Given the description of an element on the screen output the (x, y) to click on. 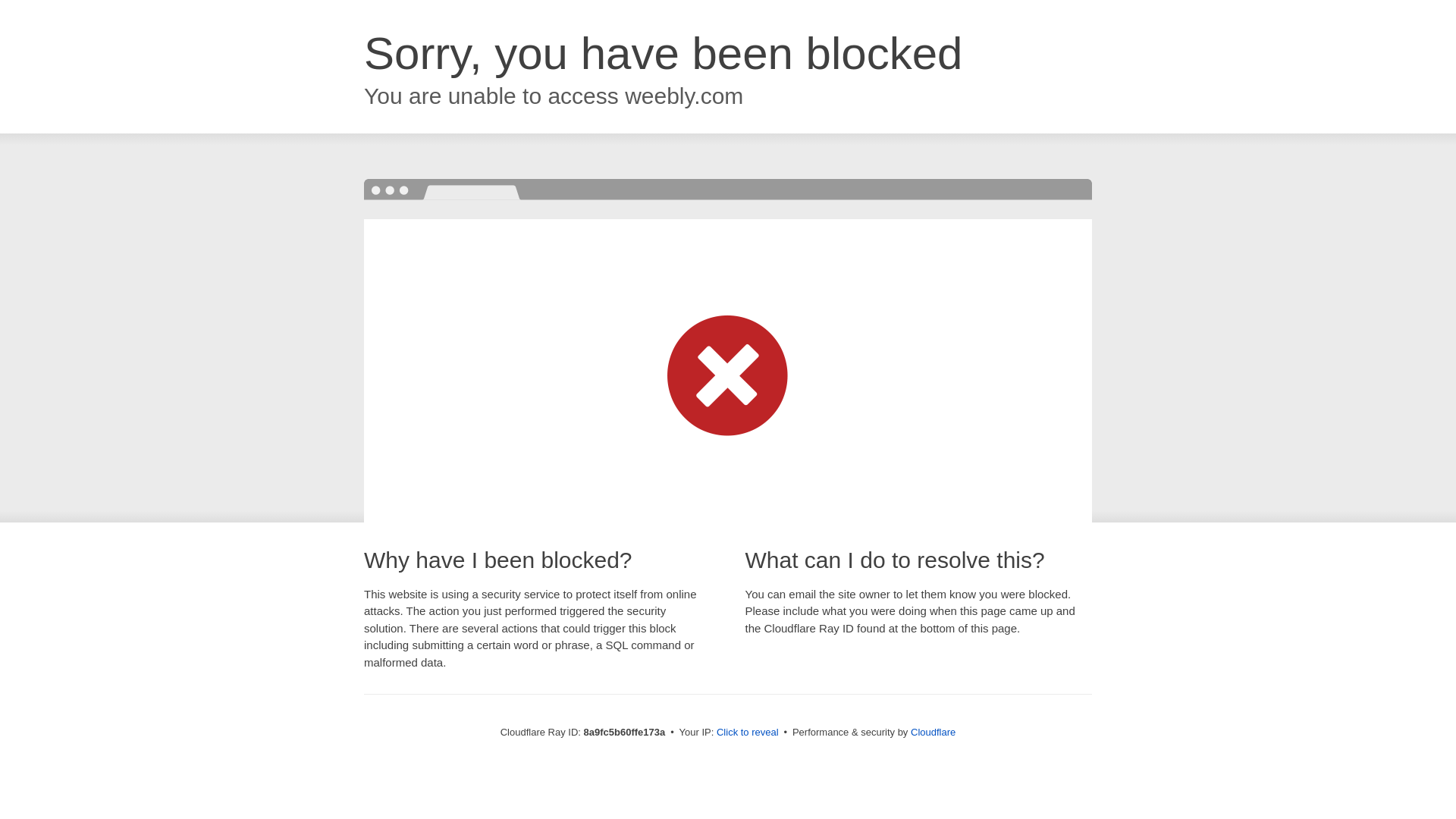
Cloudflare (933, 731)
Click to reveal (747, 732)
